Given the description of an element on the screen output the (x, y) to click on. 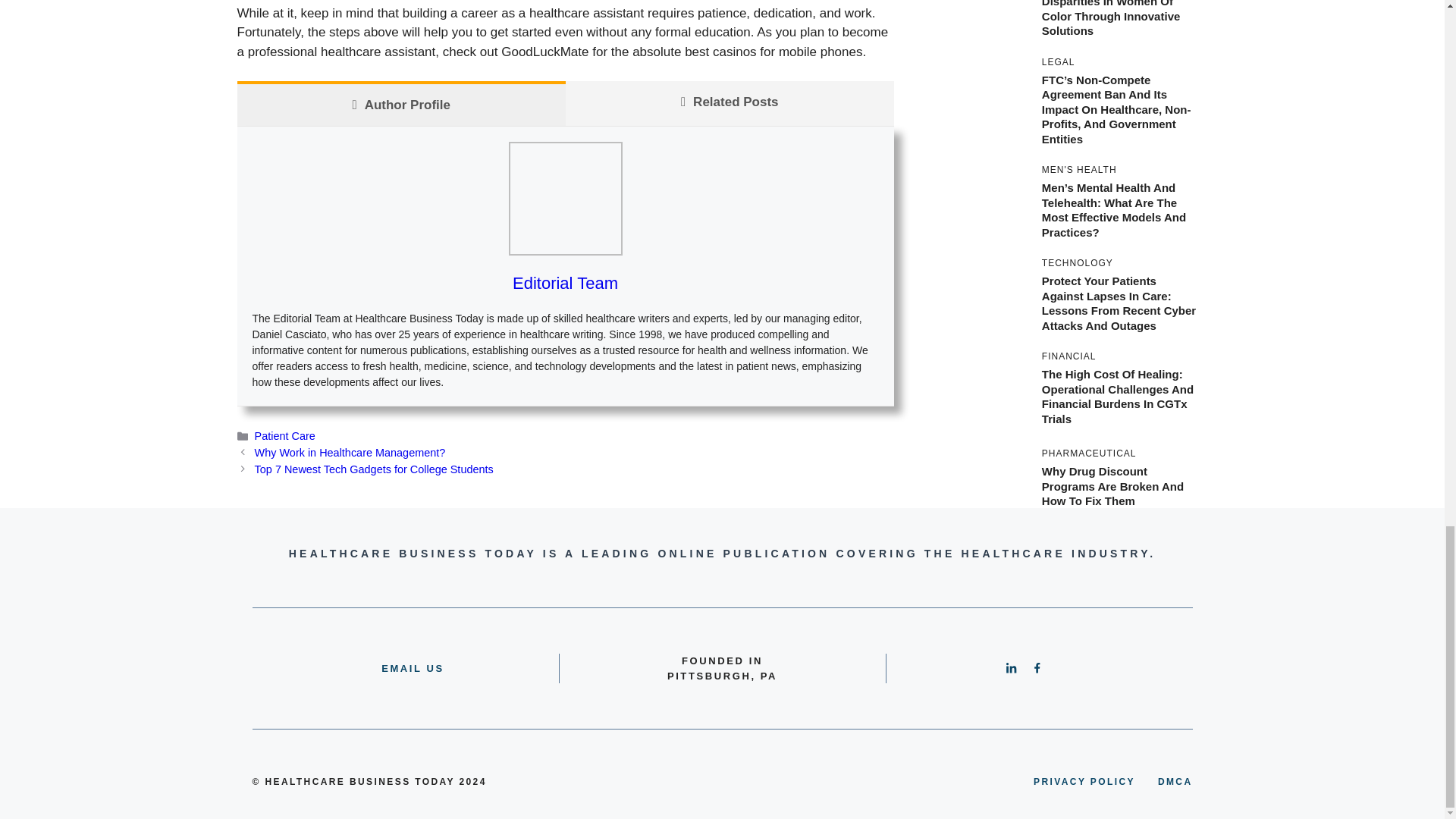
Patient Care (284, 435)
Top 7 Newest Tech Gadgets for College Students (373, 469)
Why Work in Healthcare Management? (349, 452)
Editorial Team (564, 282)
How to Become a Healthcare Assistant? 1 (564, 198)
